Given the description of an element on the screen output the (x, y) to click on. 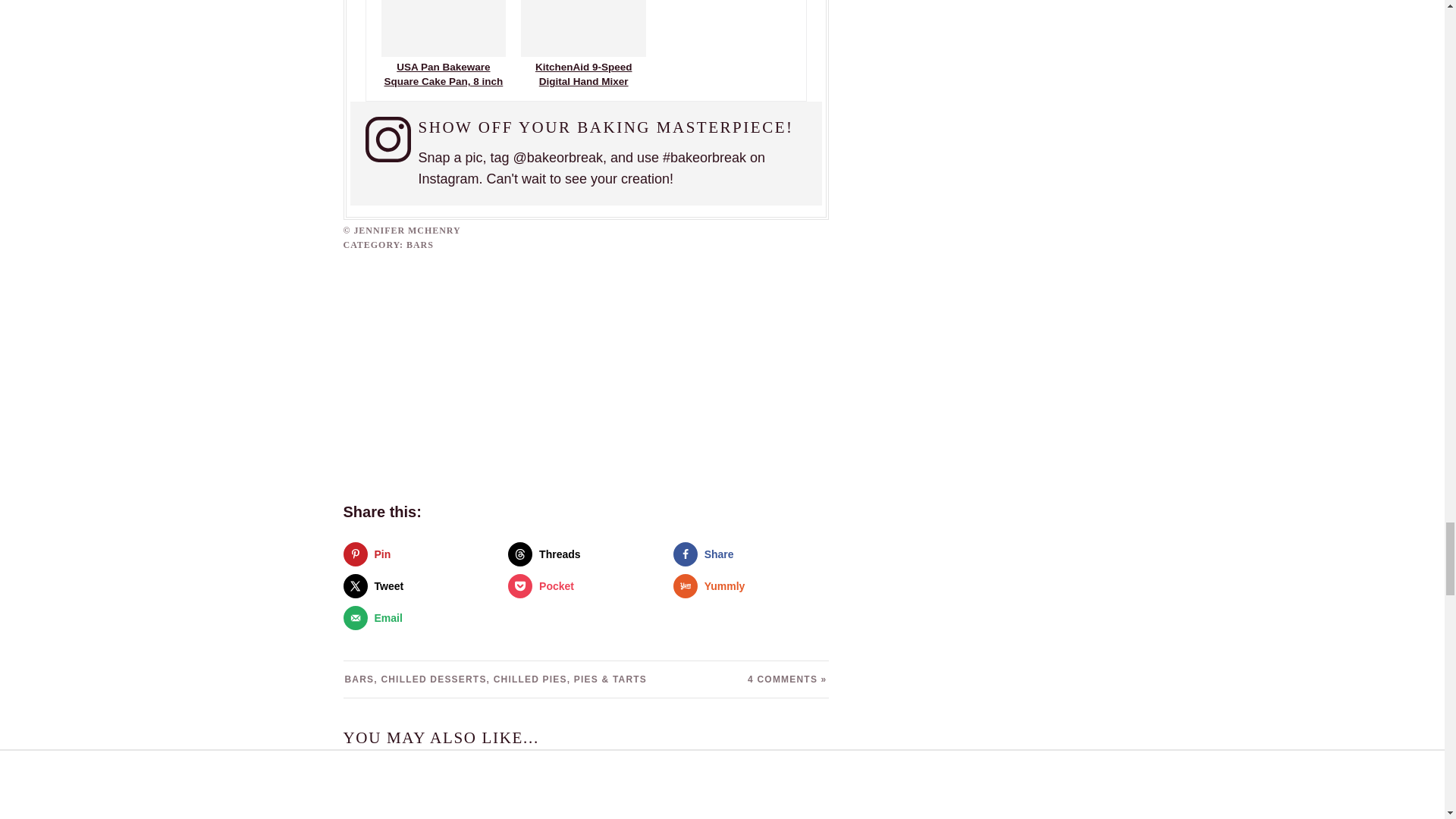
Salted Butterscotch Blondies (752, 792)
Share on Threads (585, 554)
Peanut Butter and Jelly Icebox Pie (419, 792)
Share on Pocket (585, 586)
Save to Pinterest (419, 554)
Share on Facebook (750, 554)
Share on X (419, 586)
Chocolate Pecan Tart (585, 792)
Send over email (419, 617)
Share on Yummly (750, 586)
